Given the description of an element on the screen output the (x, y) to click on. 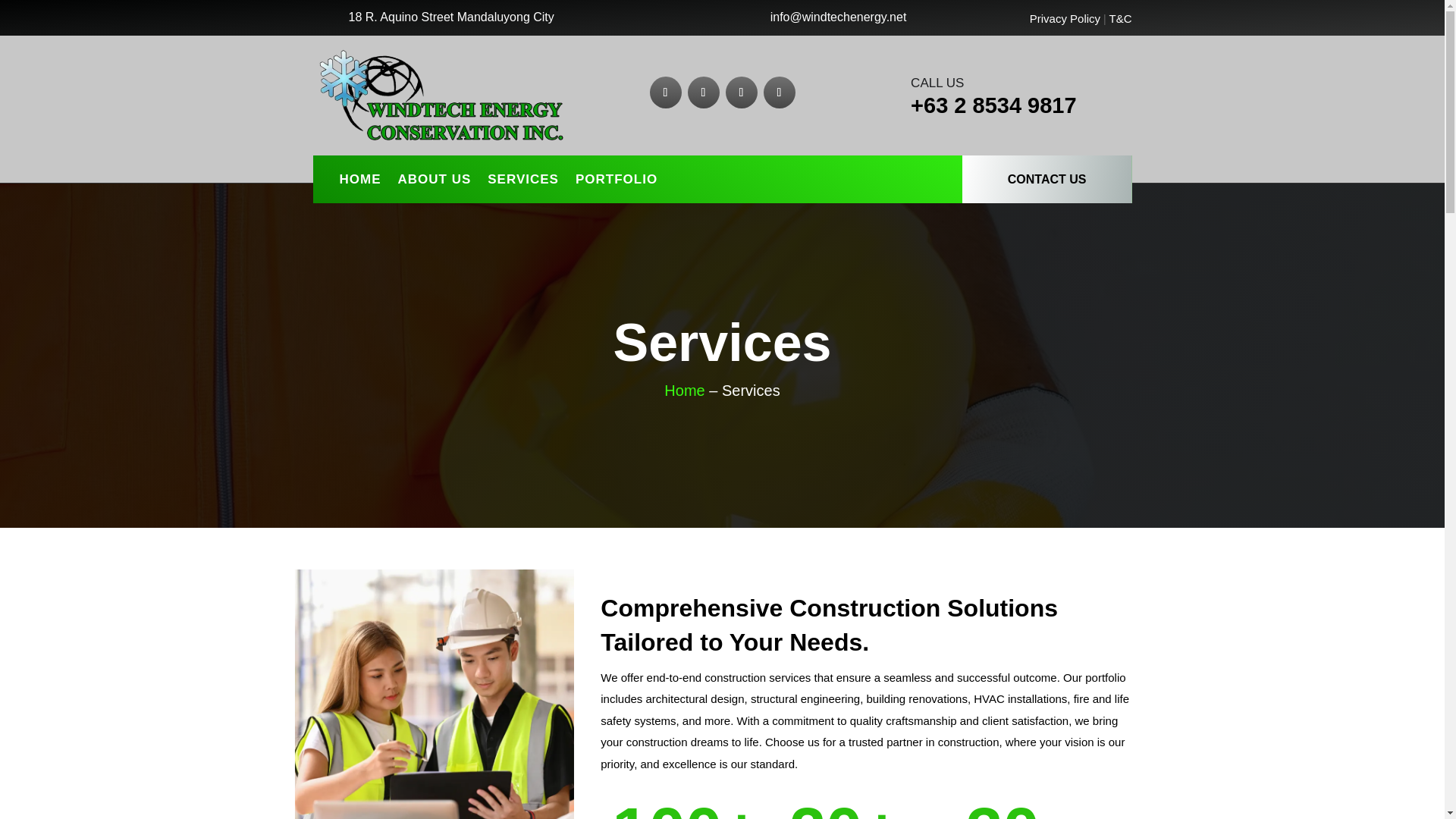
Follow on Instagram (778, 92)
PORTFOLIO (616, 182)
About Us (415, 694)
SERVICES (523, 182)
Follow on Facebook (665, 92)
Follow on LinkedIn (741, 92)
Home (683, 390)
Privacy Policy (1064, 18)
ABOUT US (433, 182)
CONTACT US (1047, 179)
